Given the description of an element on the screen output the (x, y) to click on. 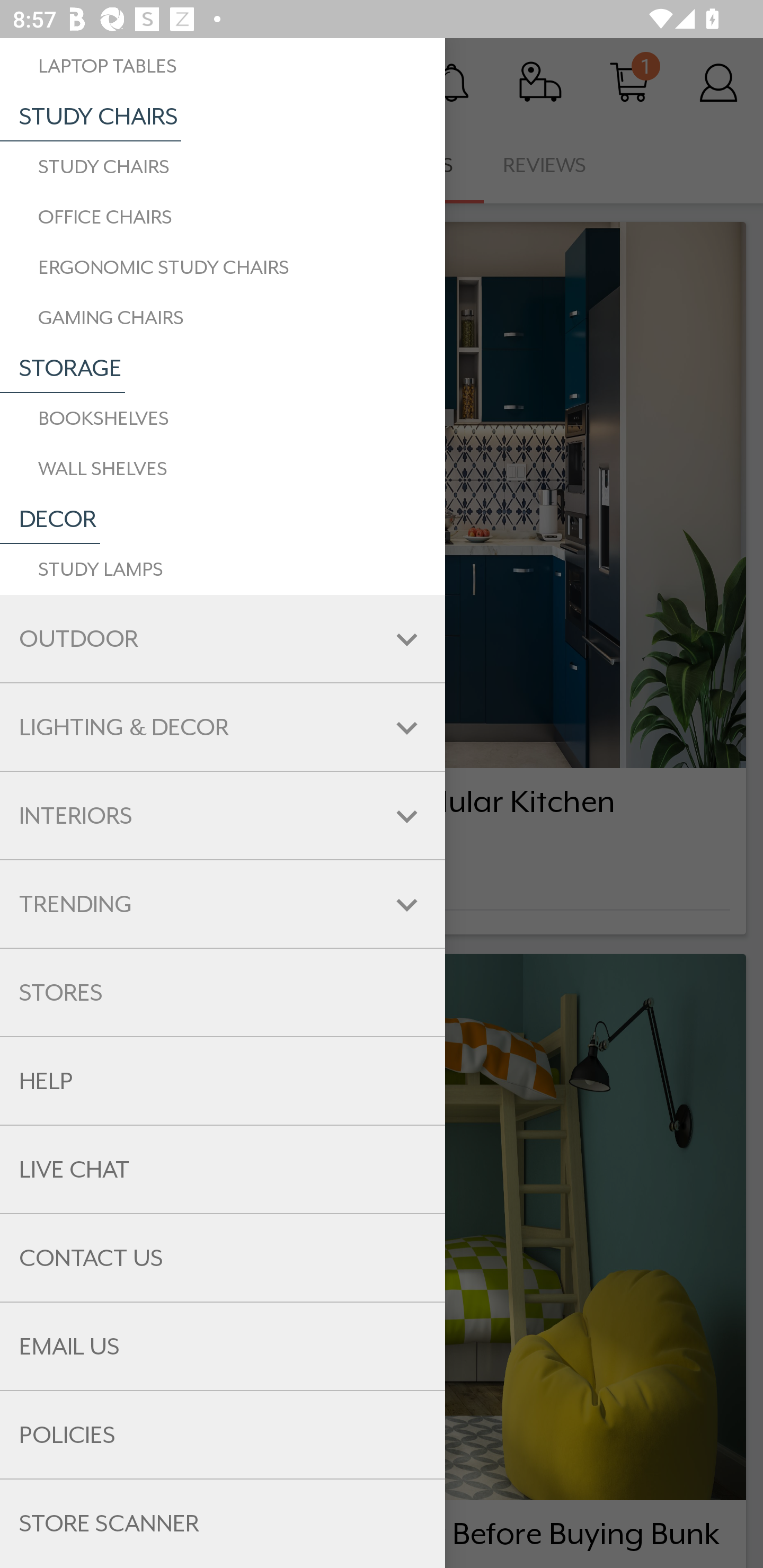
LAPTOP TABLES (222, 65)
LAPTOP TABLES (222, 65)
STUDY CHAIRS (90, 116)
STUDY CHAIRS (222, 166)
OFFICE CHAIRS (222, 217)
ERGONOMIC STUDY CHAIRS (222, 267)
GAMING CHAIRS (222, 317)
STORAGE (62, 368)
BOOKSHELVES (222, 418)
WALL SHELVES (222, 468)
DECOR (49, 518)
STUDY LAMPS (222, 569)
OUTDOOR  (222, 638)
INTERIORS  (222, 815)
TRENDING  (222, 903)
STORES (222, 992)
HELP (222, 1080)
LIVE CHAT (222, 1169)
CONTACT US (222, 1258)
EMAIL US (222, 1345)
POLICIES (222, 1435)
STORE SCANNER (222, 1523)
